Given the description of an element on the screen output the (x, y) to click on. 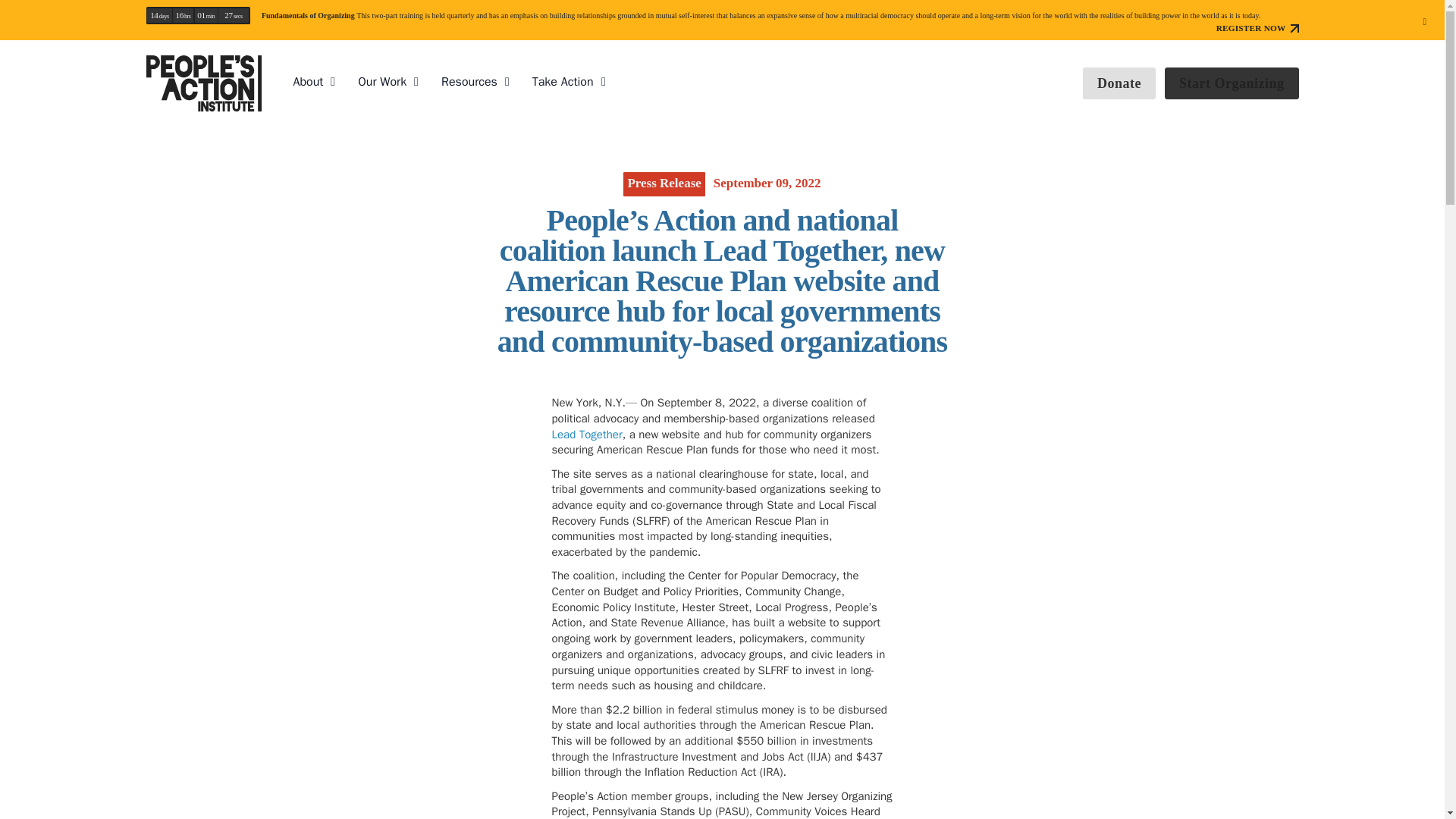
REGISTER NOW (1256, 28)
Our Work (382, 81)
Resources (469, 81)
Take Action (563, 81)
About (307, 81)
